Given the description of an element on the screen output the (x, y) to click on. 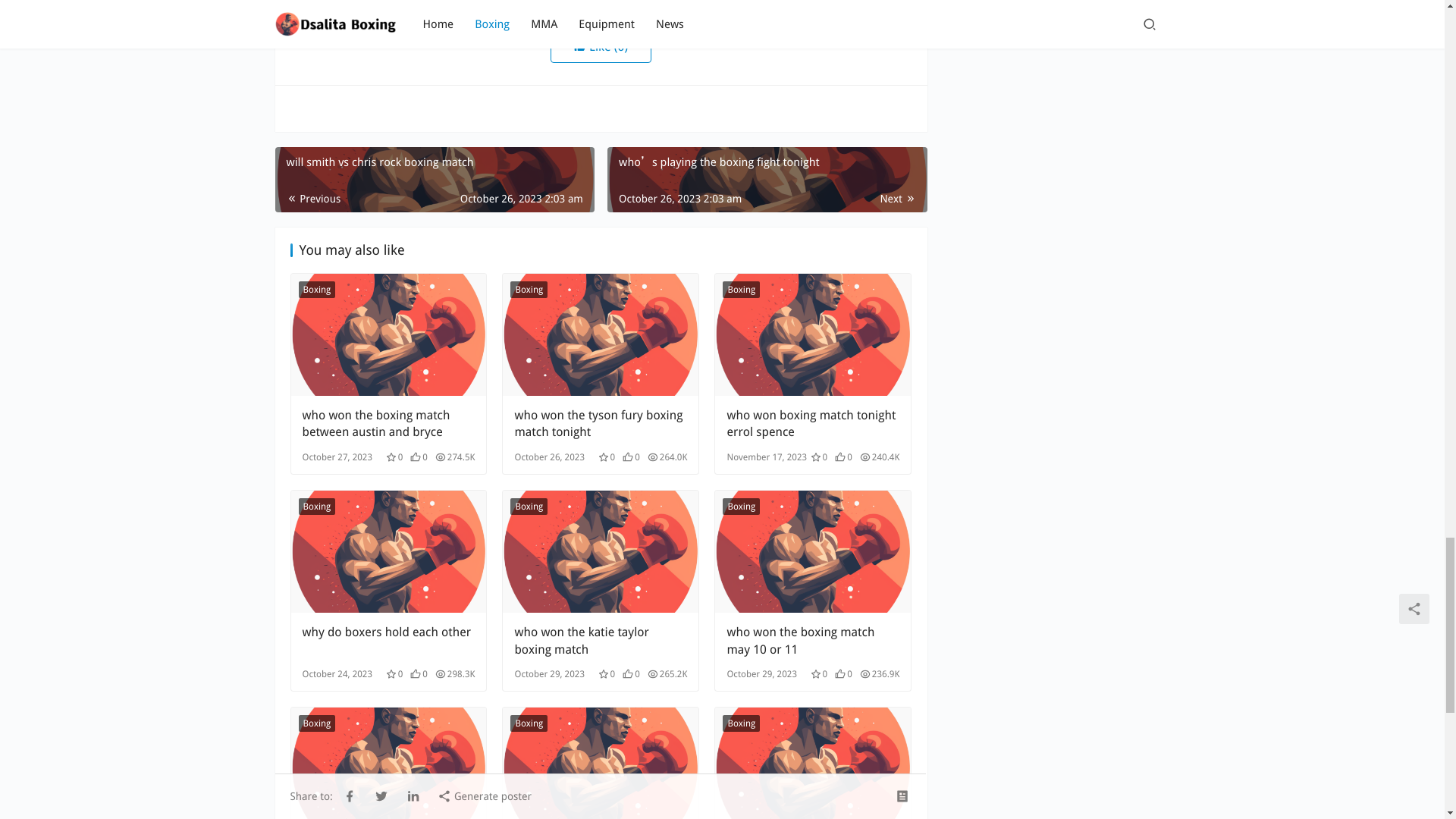
who won the boxing match may 10 or 11 (812, 640)
Boxing (741, 506)
who won the boxing match may 10 or 11 (812, 551)
who won boxing match tonight errol spence (812, 334)
will smith vs chris rock boxing match (434, 179)
who won the boxing match between austin and bryce (388, 334)
will smith and chris rock boxing match (388, 763)
who won the tyson fury boxing match tonight (600, 423)
will smith vs chris rock boxing match (434, 179)
Boxing (317, 506)
who won the katie taylor boxing match (600, 640)
Boxing (529, 289)
why do boxers hold each other (388, 551)
who won the katie taylor boxing match (600, 551)
why do boxers hold each other (387, 640)
